Given the description of an element on the screen output the (x, y) to click on. 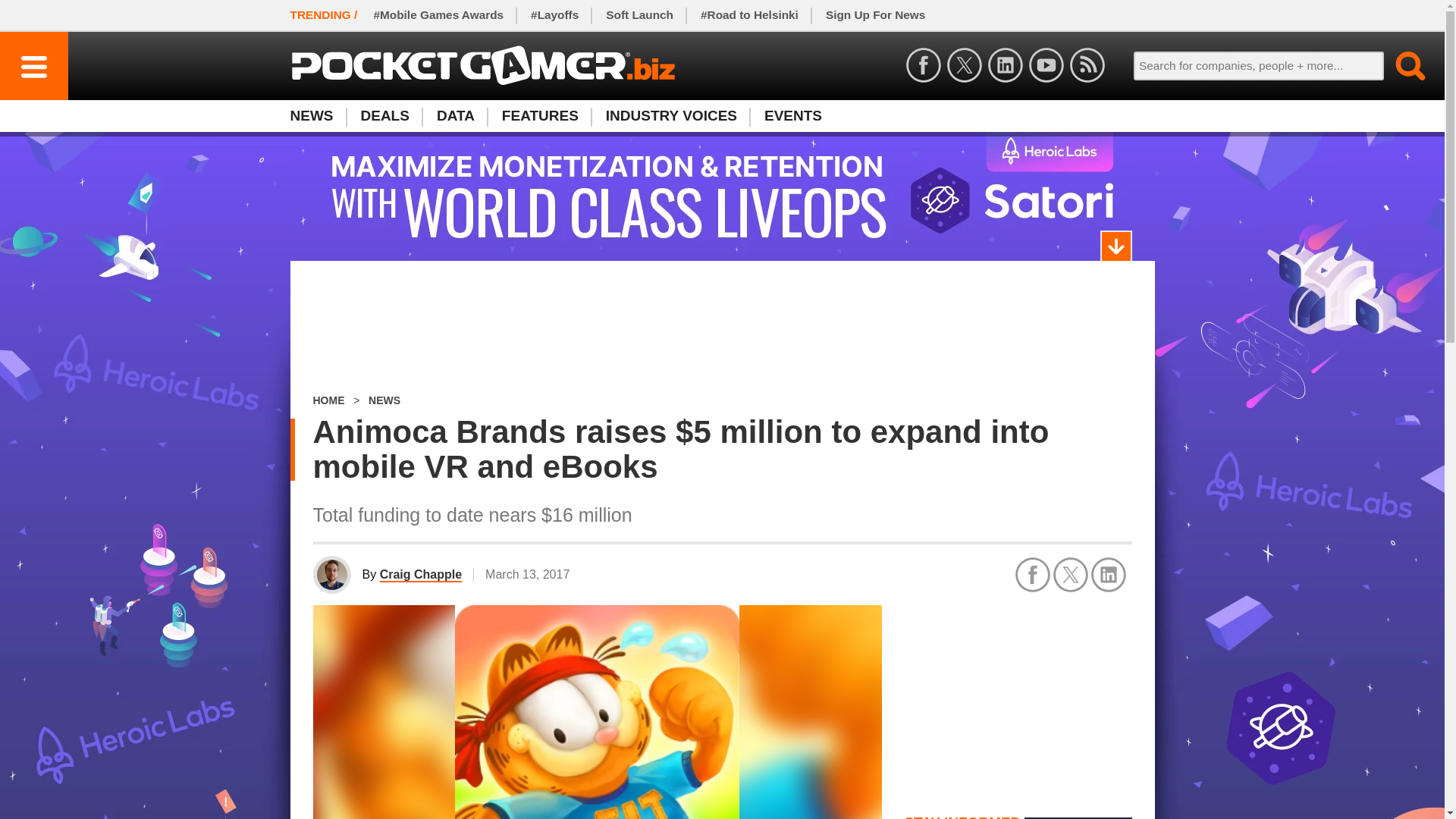
3rd party ad content (1017, 699)
DATA (455, 115)
Soft Launch (639, 15)
NEWS (317, 115)
EVENTS (793, 115)
Craig Chapple (420, 575)
FEATURES (539, 115)
Go (1402, 65)
Sign Up For News (875, 15)
3rd party ad content (722, 328)
